Given the description of an element on the screen output the (x, y) to click on. 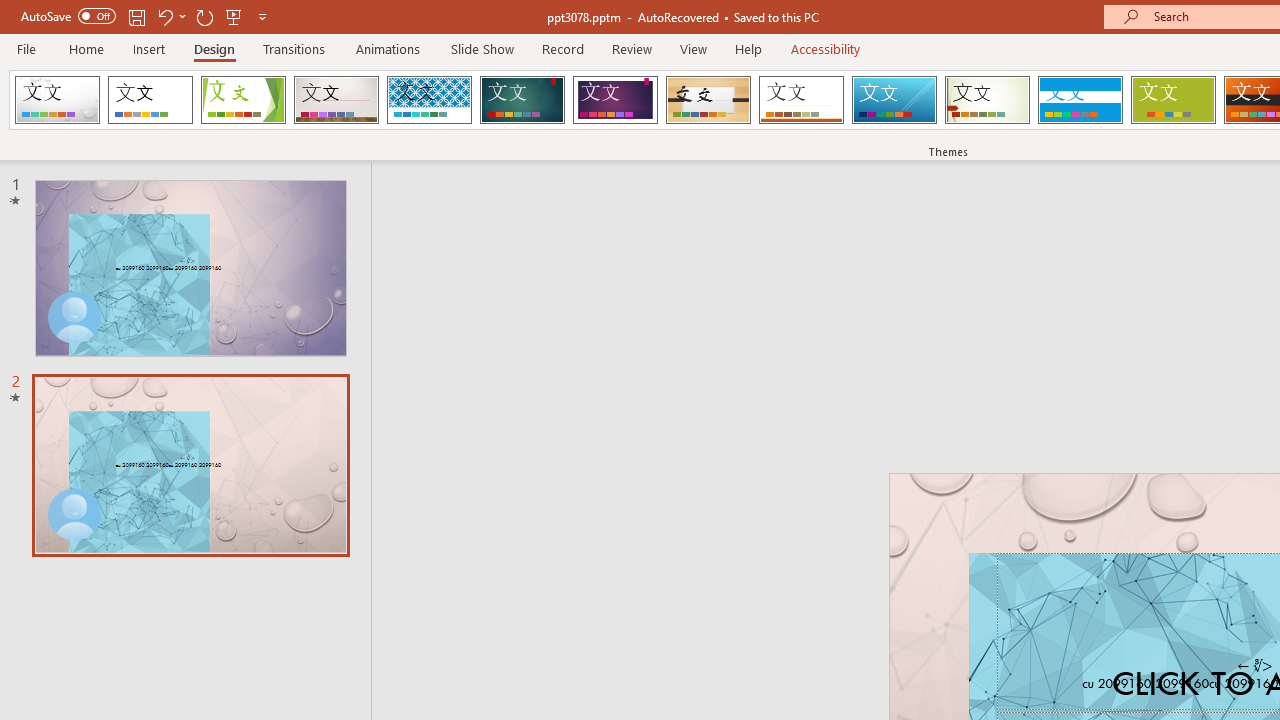
Facet (243, 100)
Organic (708, 100)
Slice (893, 100)
Ion (522, 100)
